Given the description of an element on the screen output the (x, y) to click on. 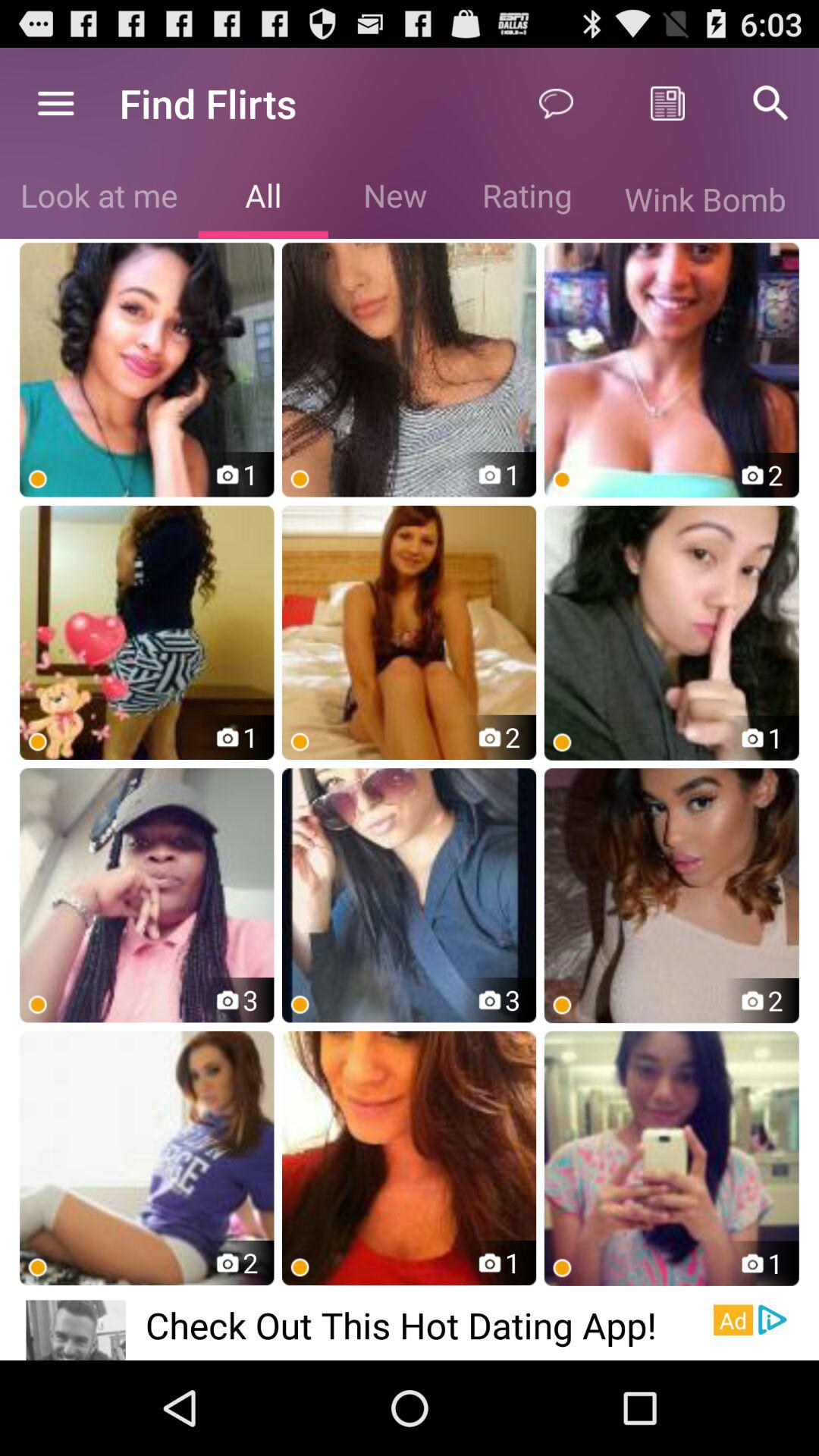
click on the last image (671, 1157)
select the option right side of new (527, 198)
select the 2 nd image in the 4th row (408, 1157)
select third row third right image of the page (671, 895)
select the orange dot which is at  extreme bottom right (561, 1267)
